Given the description of an element on the screen output the (x, y) to click on. 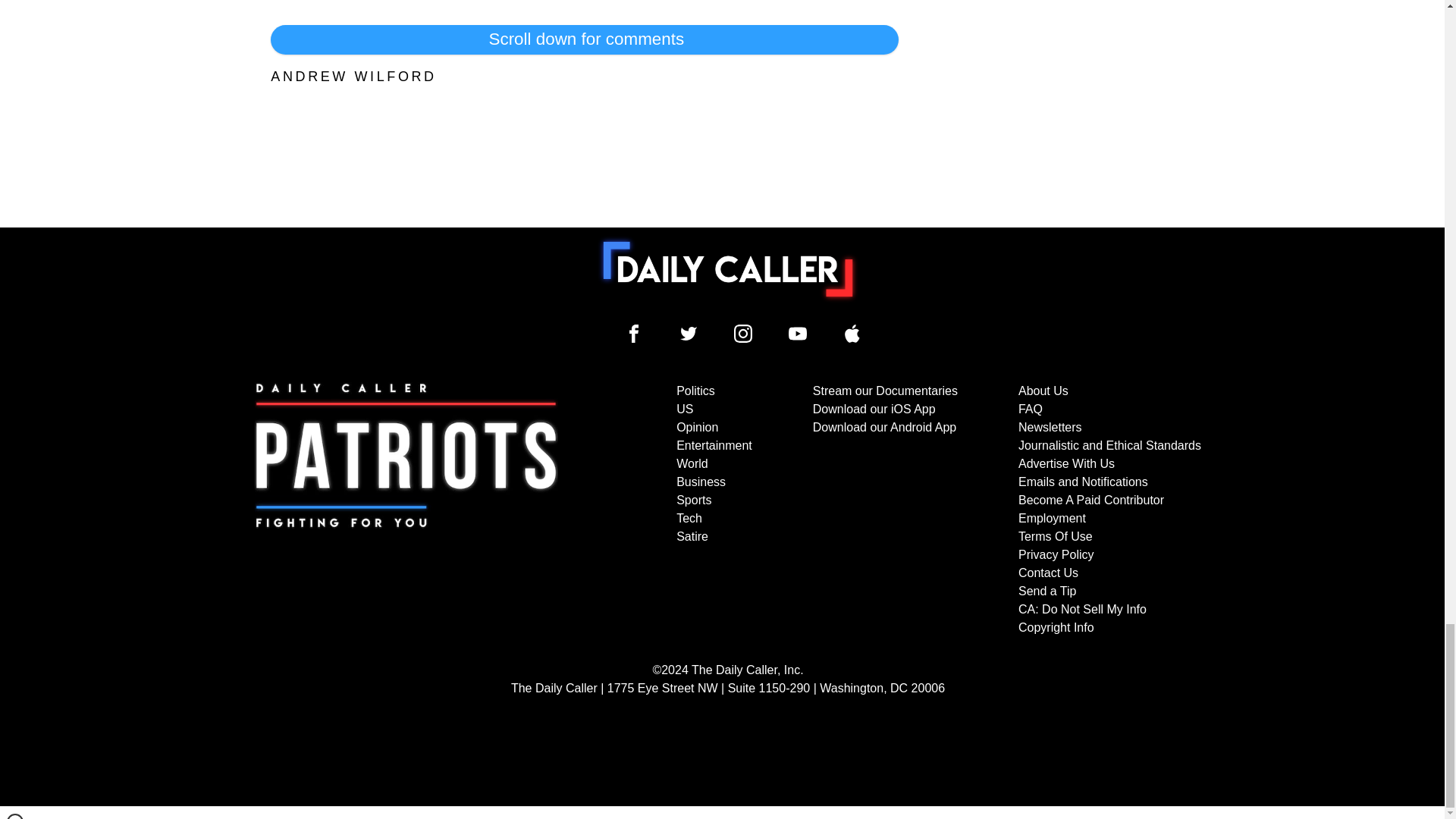
Daily Caller Instagram (742, 333)
Daily Caller Twitter (688, 333)
Daily Caller Facebook (633, 333)
Daily Caller YouTube (852, 333)
Scroll down for comments (584, 39)
Subscribe to The Daily Caller (405, 509)
Daily Caller YouTube (797, 333)
To home page (727, 268)
